Given the description of an element on the screen output the (x, y) to click on. 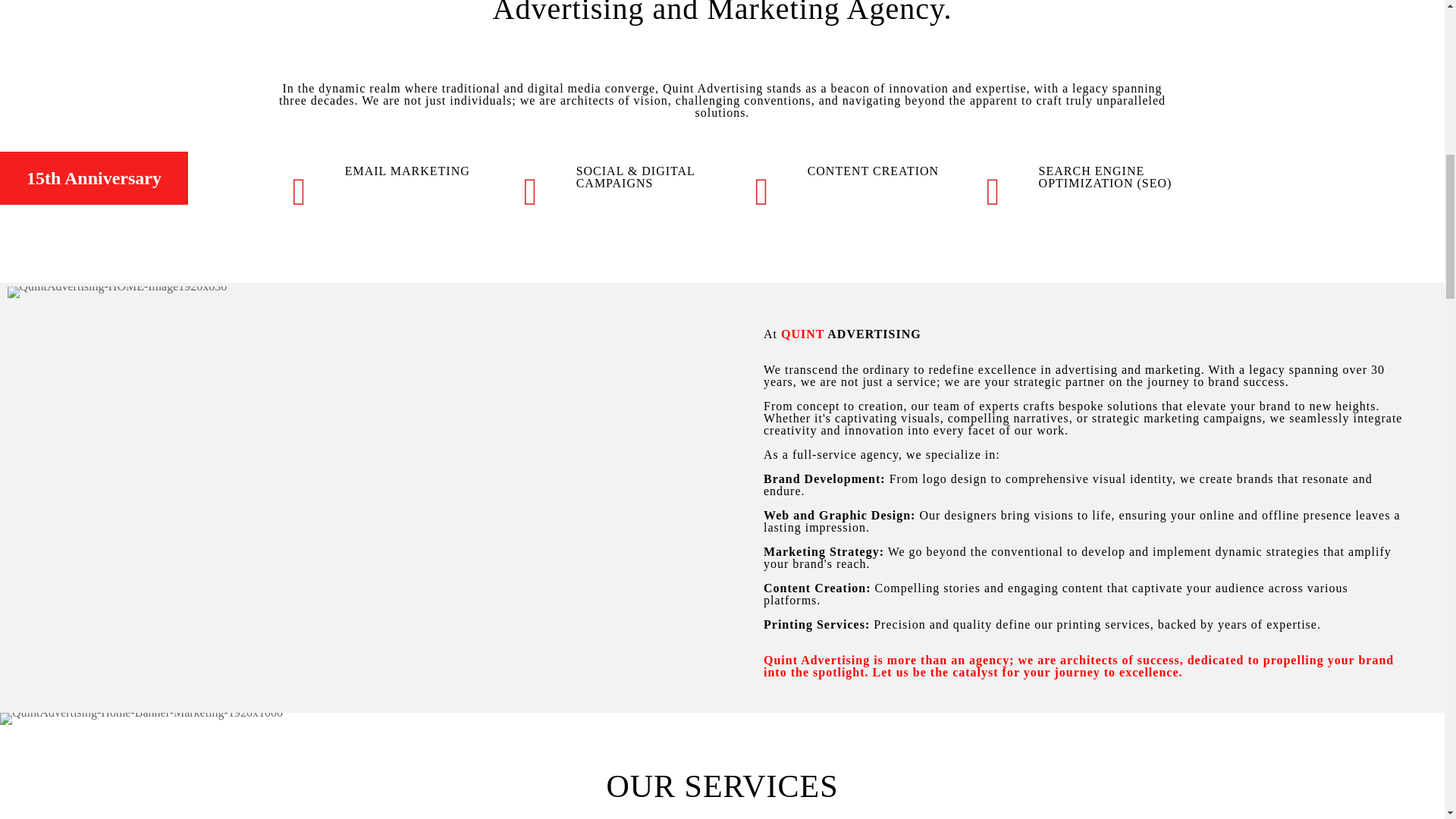
QuintAdvertising-Home-Banner-Marketing-1920x1000 (141, 718)
CONTENT CREATION (838, 169)
EMAIL MARKETING (375, 169)
QuintAdvertising-HOME-Image1920x830 (117, 292)
